Given the description of an element on the screen output the (x, y) to click on. 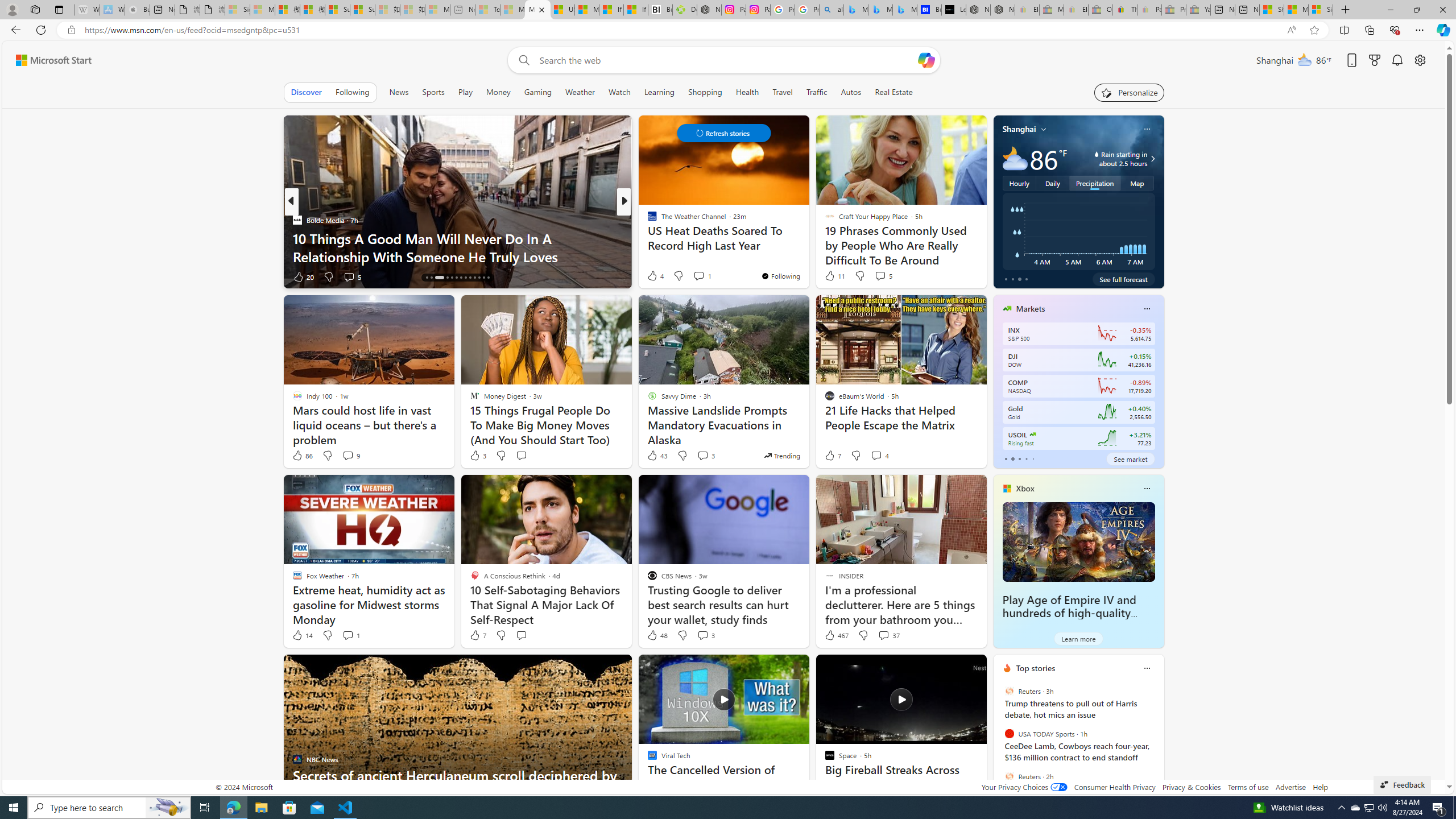
Map (1137, 183)
AutomationID: tab-22 (470, 277)
Markets (1030, 308)
Press Room - eBay Inc. - Sleeping (1174, 9)
Google is a monopoly. The fix isn't obvious (807, 256)
Real Estate (893, 92)
Shanghai (1018, 128)
